Given the description of an element on the screen output the (x, y) to click on. 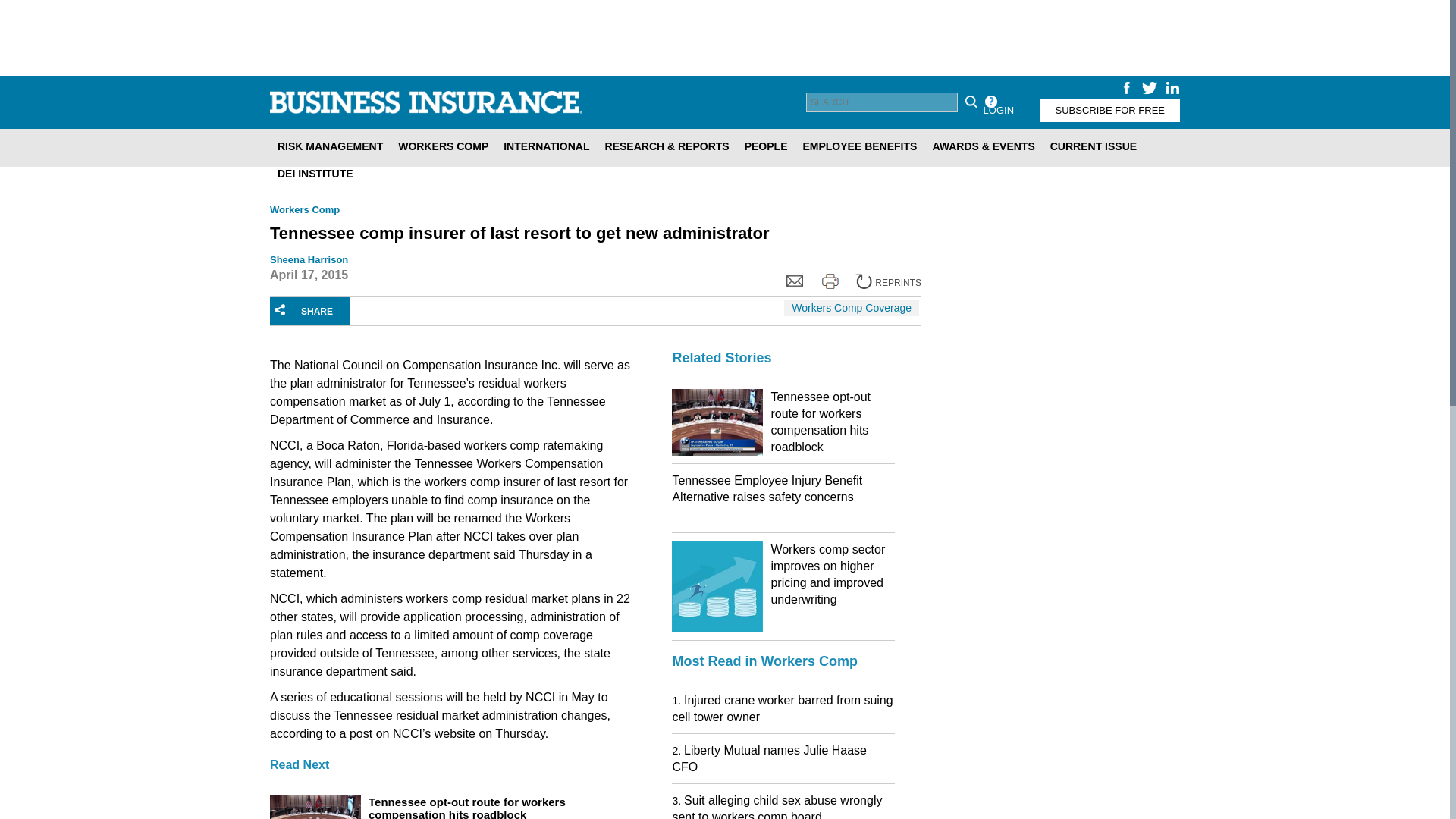
PEOPLE (765, 145)
LOGIN (998, 110)
INTERNATIONAL (546, 145)
WORKERS COMP (443, 145)
RISK MANAGEMENT (329, 145)
SUBSCRIBE FOR FREE (1110, 110)
Help (990, 101)
